Given the description of an element on the screen output the (x, y) to click on. 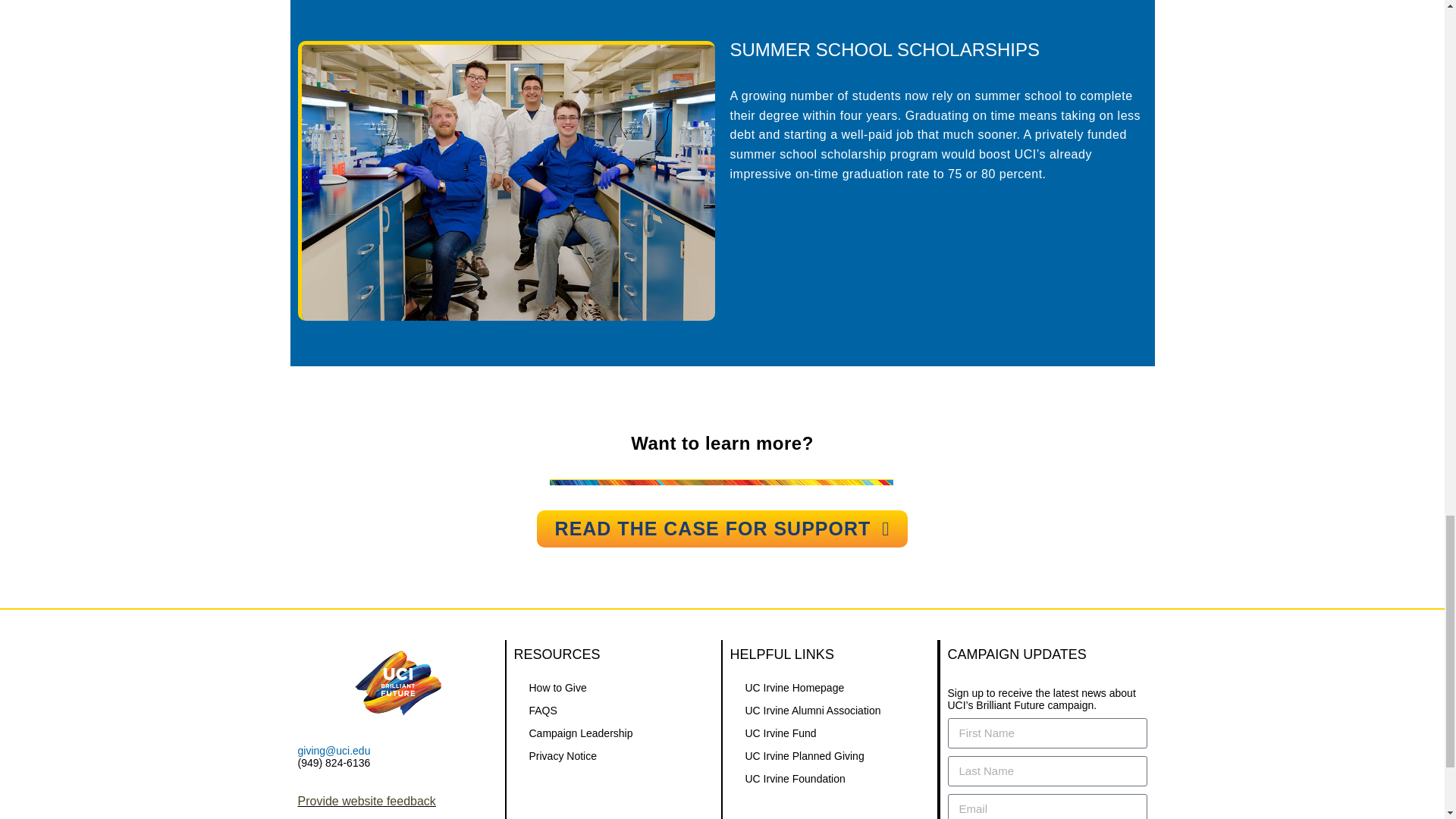
How to Give (613, 687)
UC Irvine Foundation (828, 778)
UC Irvine Homepage (828, 687)
UC Irvine Fund (828, 732)
Privacy Notice (613, 755)
UC Irvine Planned Giving (828, 755)
Campaign Leadership (613, 732)
FAQS (613, 710)
UC Irvine Alumni Association (828, 710)
Provide website feedback (366, 800)
READ THE CASE FOR SUPPORT (722, 528)
